Given the description of an element on the screen output the (x, y) to click on. 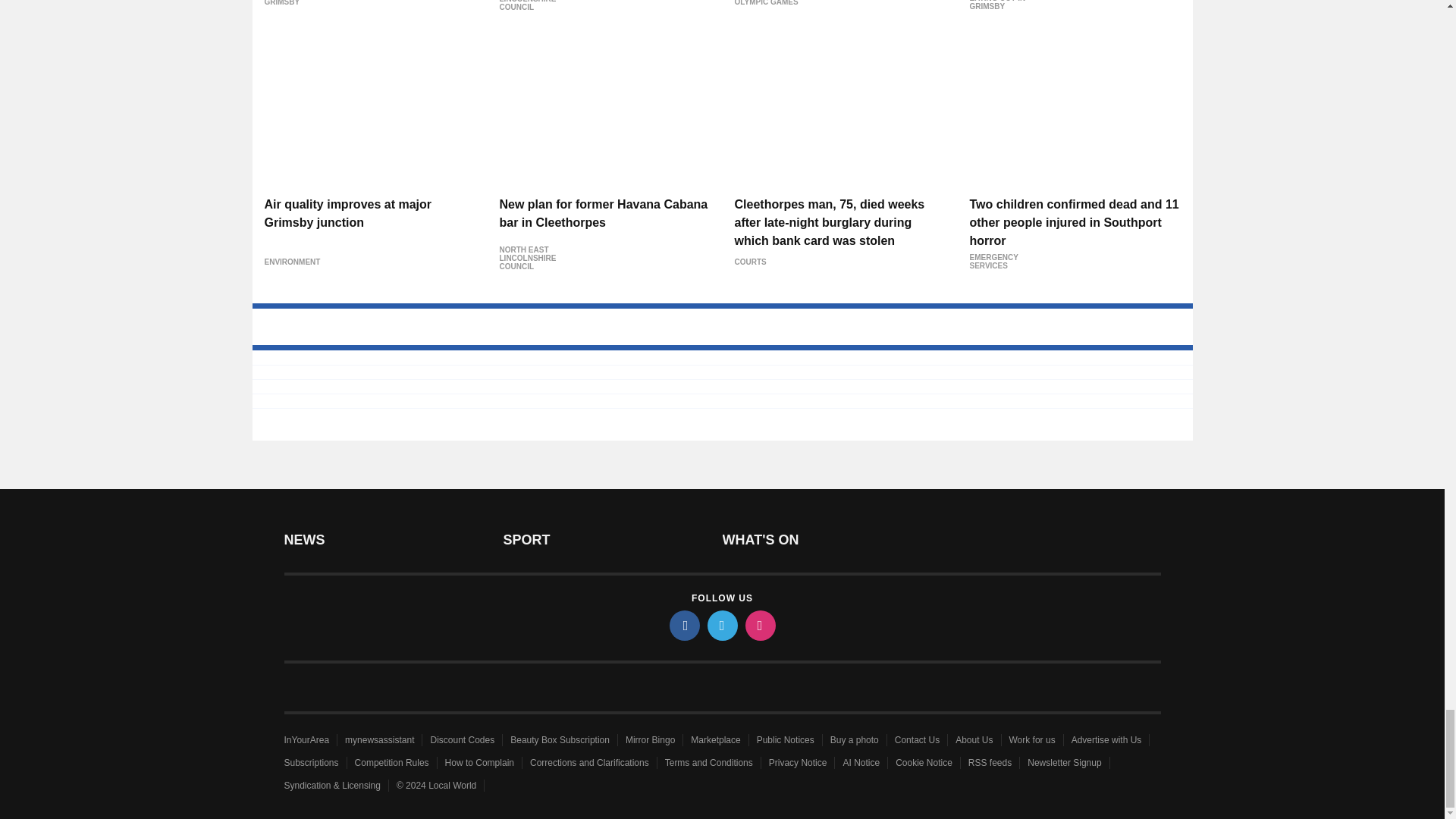
instagram (759, 625)
facebook (683, 625)
twitter (721, 625)
